Given the description of an element on the screen output the (x, y) to click on. 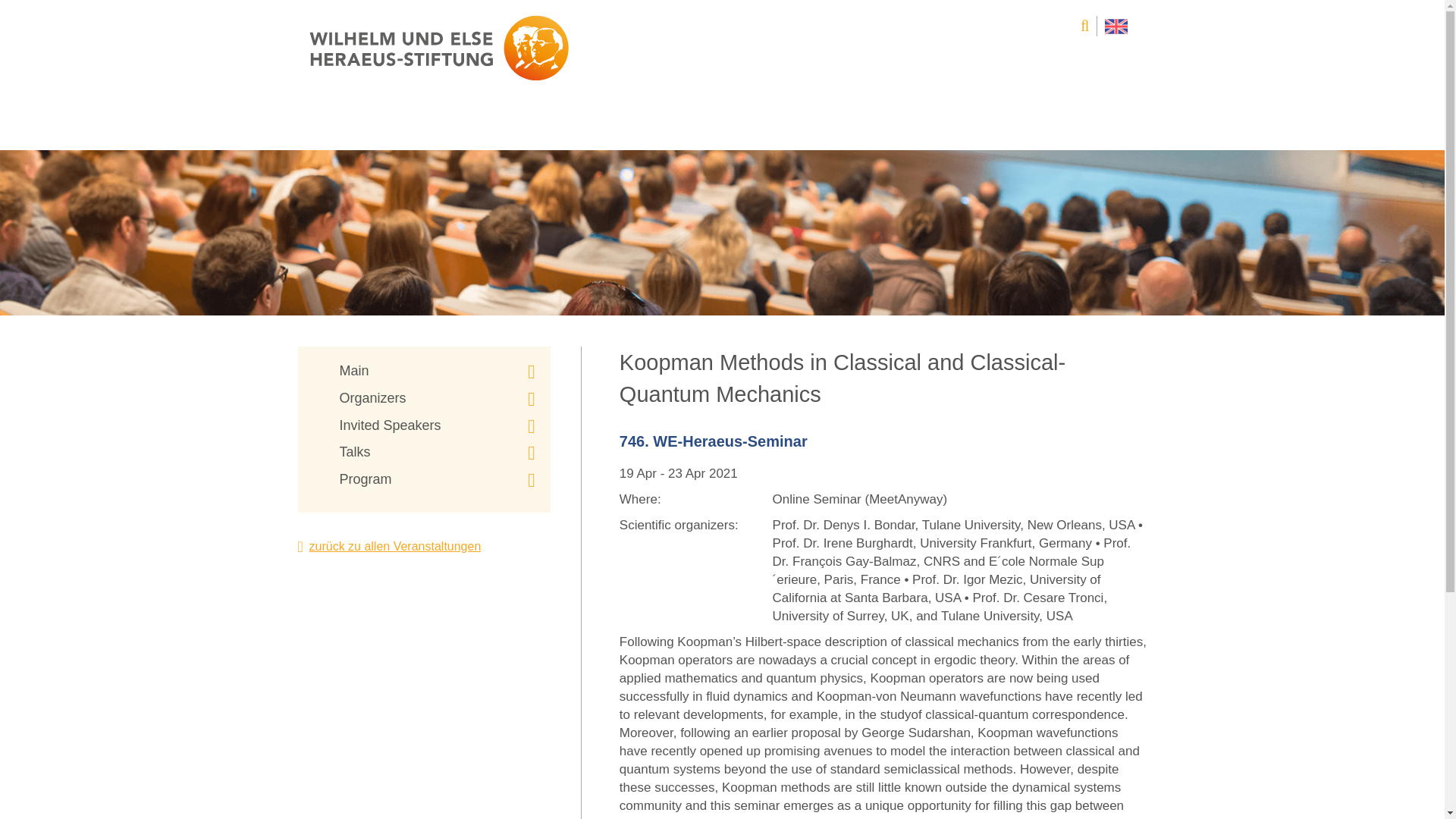
Program (437, 479)
Invited Speakers (437, 425)
TERMINE (1091, 125)
zur Startseite (438, 48)
Organizers (437, 398)
Main (437, 371)
Talks (437, 452)
Suchen (1084, 25)
